Given the description of an element on the screen output the (x, y) to click on. 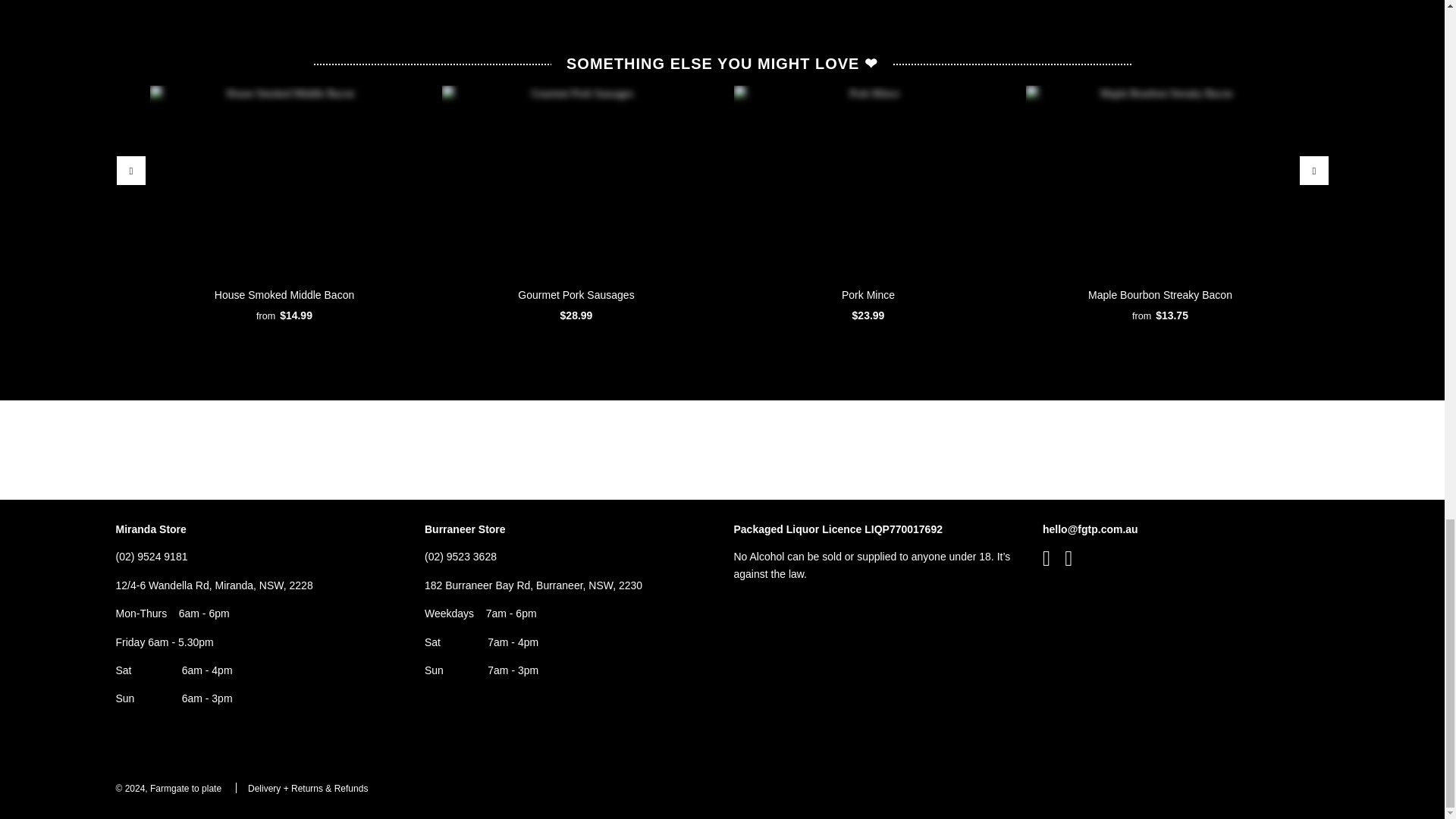
Maple Bourbon Streaky Bacon (1159, 180)
Pork Mince (868, 180)
House Smoked Middle Bacon (284, 180)
Gourmet Pork Sausages (575, 180)
